Given the description of an element on the screen output the (x, y) to click on. 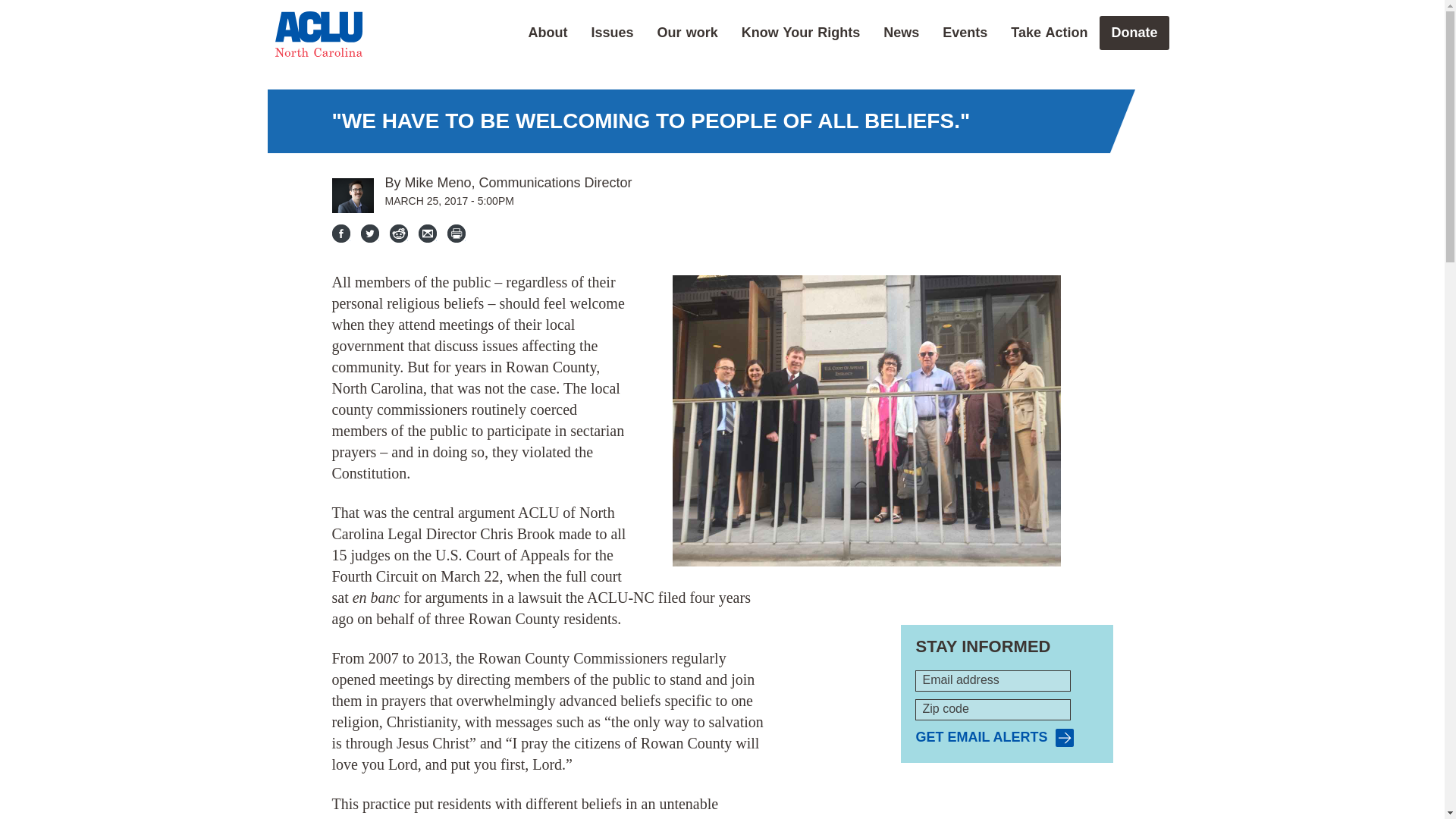
Take Action (1048, 32)
Know Your Rights (801, 32)
Zip code (992, 709)
Email address (992, 680)
Get email alerts (994, 737)
Events (964, 32)
Submit this to Reddit (398, 233)
Submit this to Twitter (369, 233)
Rowan County Fourth Circuit (866, 420)
Submit this to Facebook (340, 233)
Donate (1134, 32)
ACLU of North Carolina - logo (318, 33)
Email this page (427, 233)
